Given the description of an element on the screen output the (x, y) to click on. 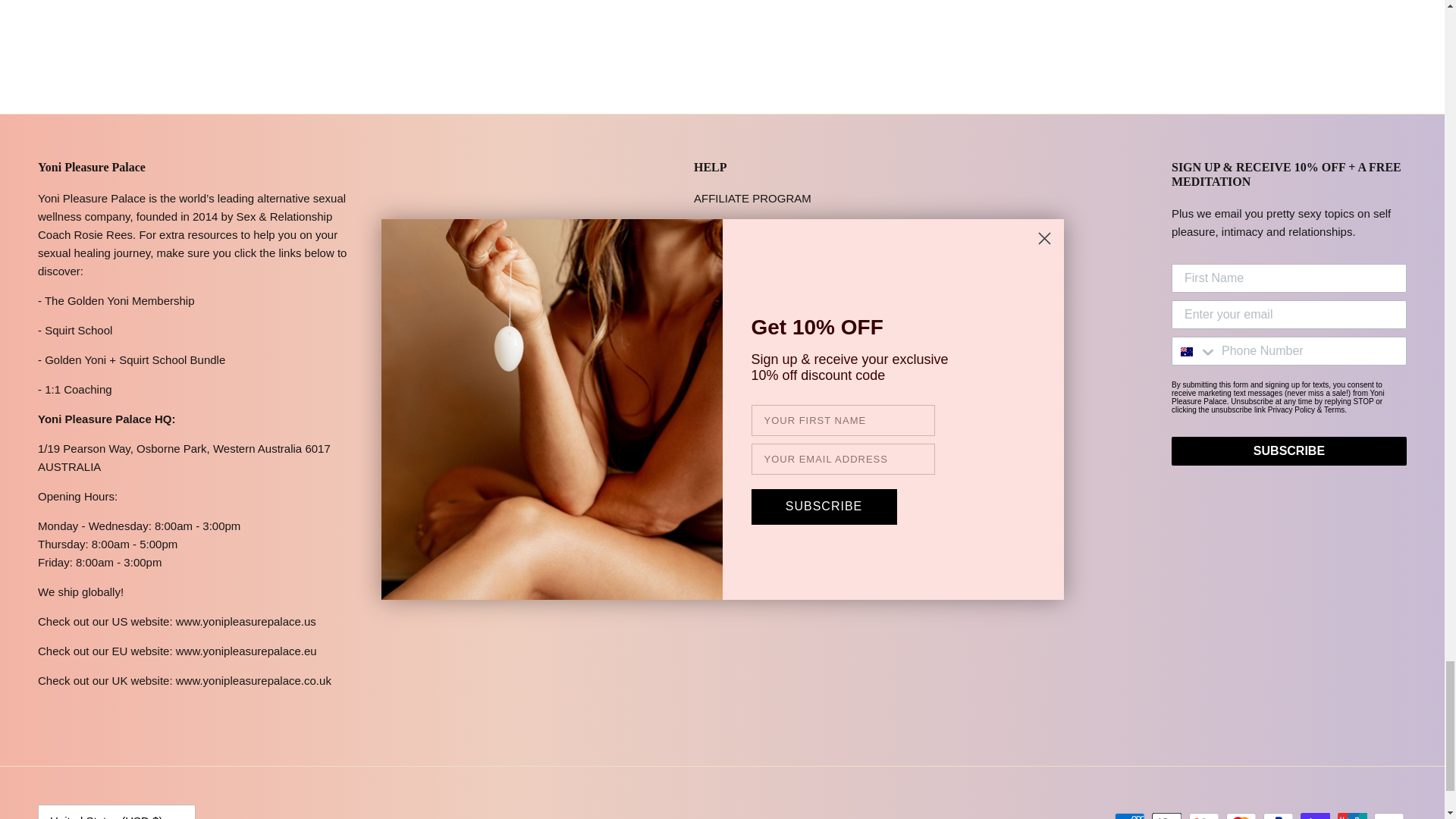
Union Pay (1352, 816)
Google Pay (1203, 816)
Shop Pay (1315, 816)
American Express (1129, 816)
Visa (1388, 816)
Apple Pay (1166, 816)
Down (176, 816)
Mastercard (1240, 816)
PayPal (1277, 816)
Australia (1186, 351)
